Given the description of an element on the screen output the (x, y) to click on. 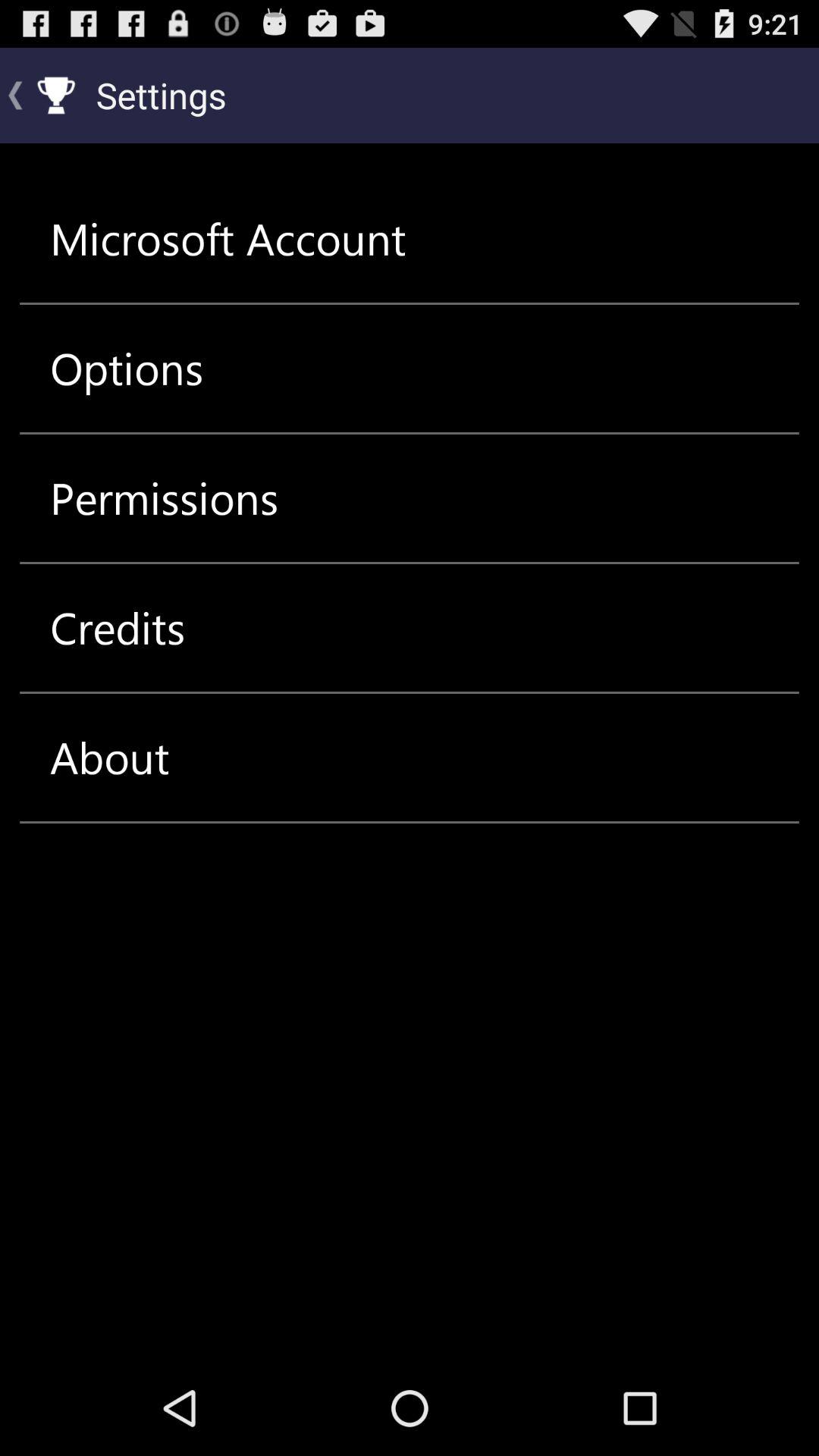
open item above about icon (117, 627)
